Given the description of an element on the screen output the (x, y) to click on. 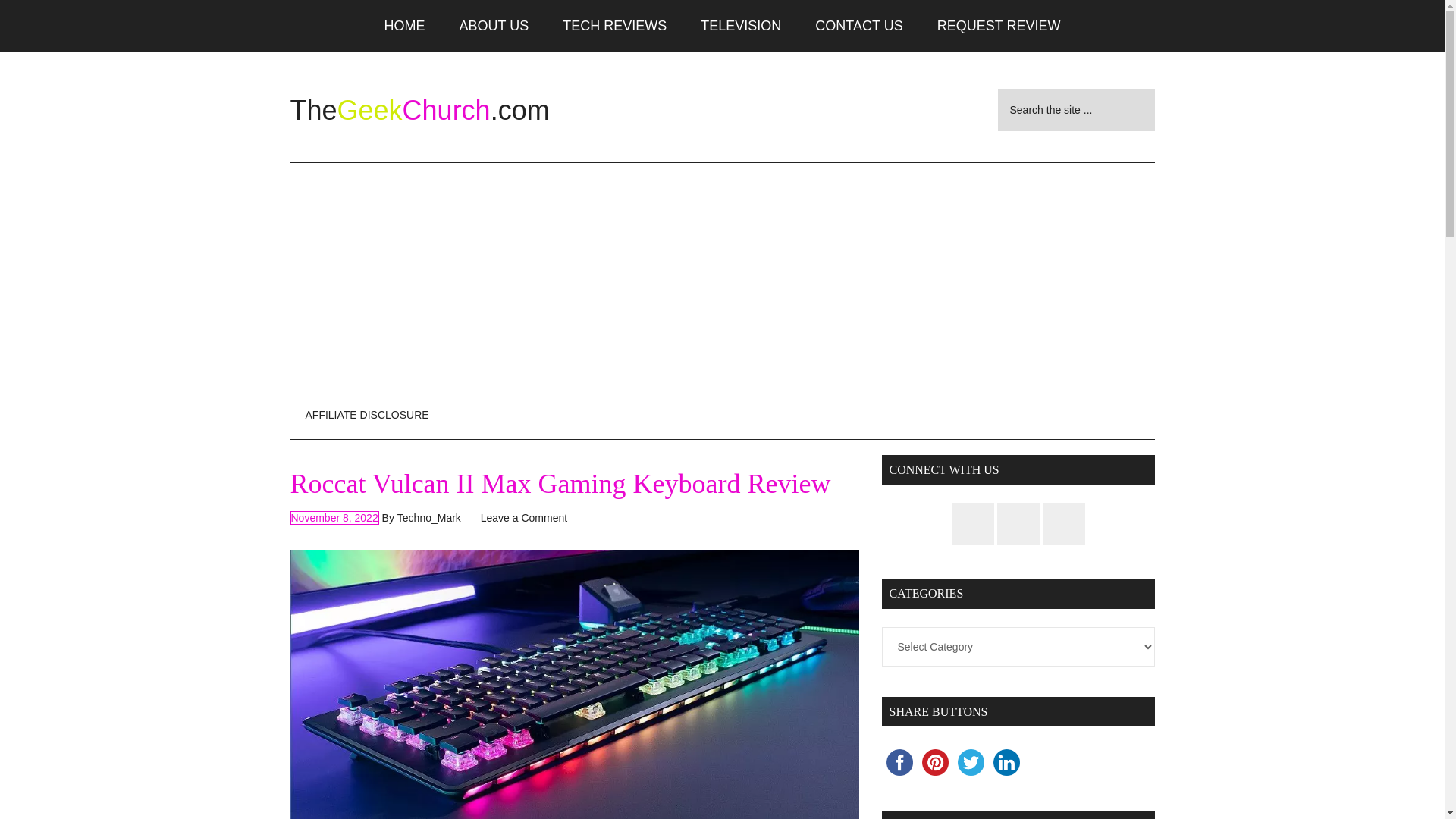
facebook (898, 762)
Leave a Comment (523, 517)
TECH REVIEWS (614, 25)
TheGeekChurch.com (418, 110)
HOME (405, 25)
REQUEST REVIEW (998, 25)
pinterest (935, 762)
TELEVISION (740, 25)
linkedin (1006, 762)
CONTACT US (858, 25)
